Given the description of an element on the screen output the (x, y) to click on. 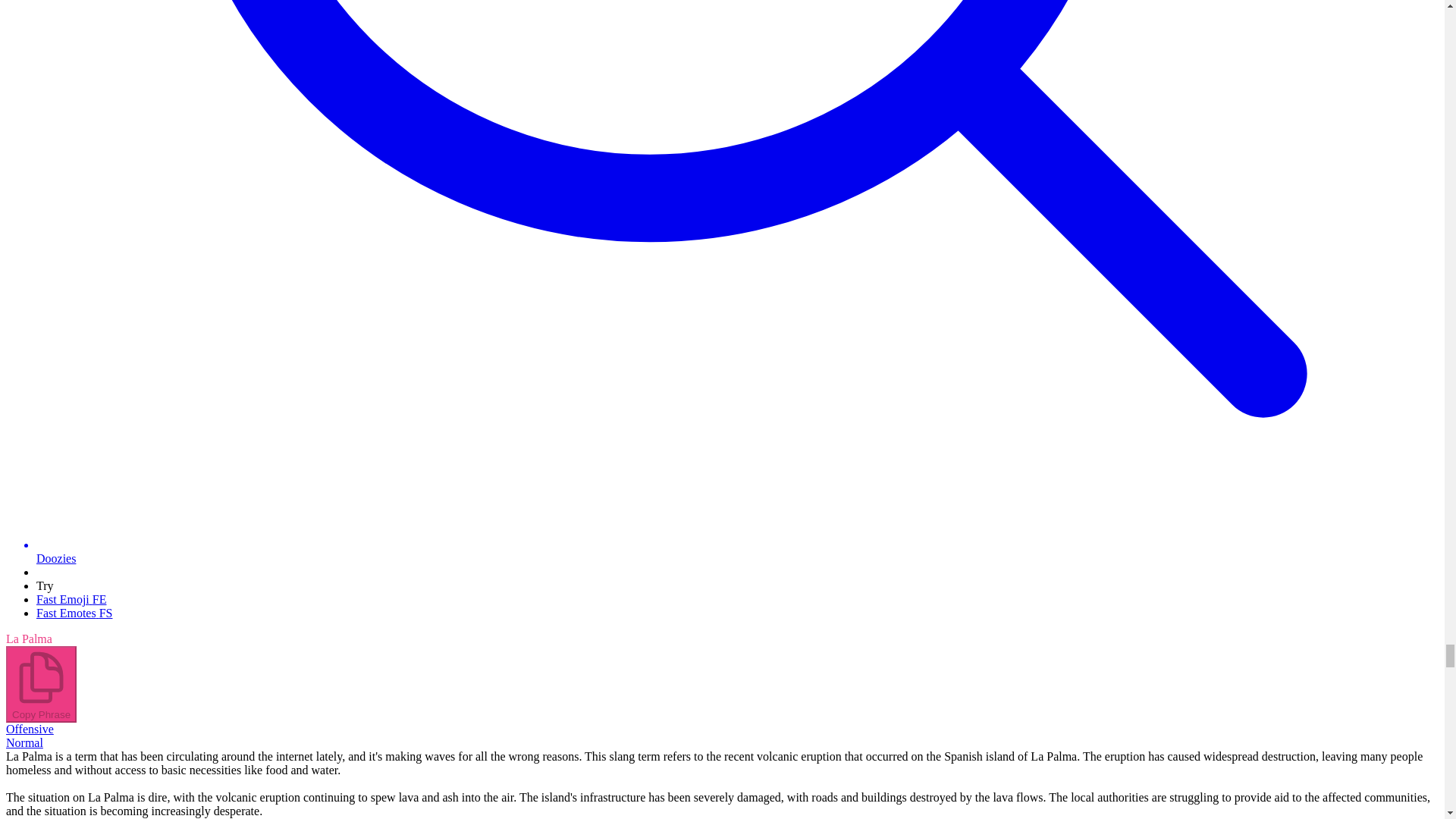
Copy Phrase (41, 684)
Fast Emotes FS (74, 612)
Fast Emoji FE (71, 599)
